Given the description of an element on the screen output the (x, y) to click on. 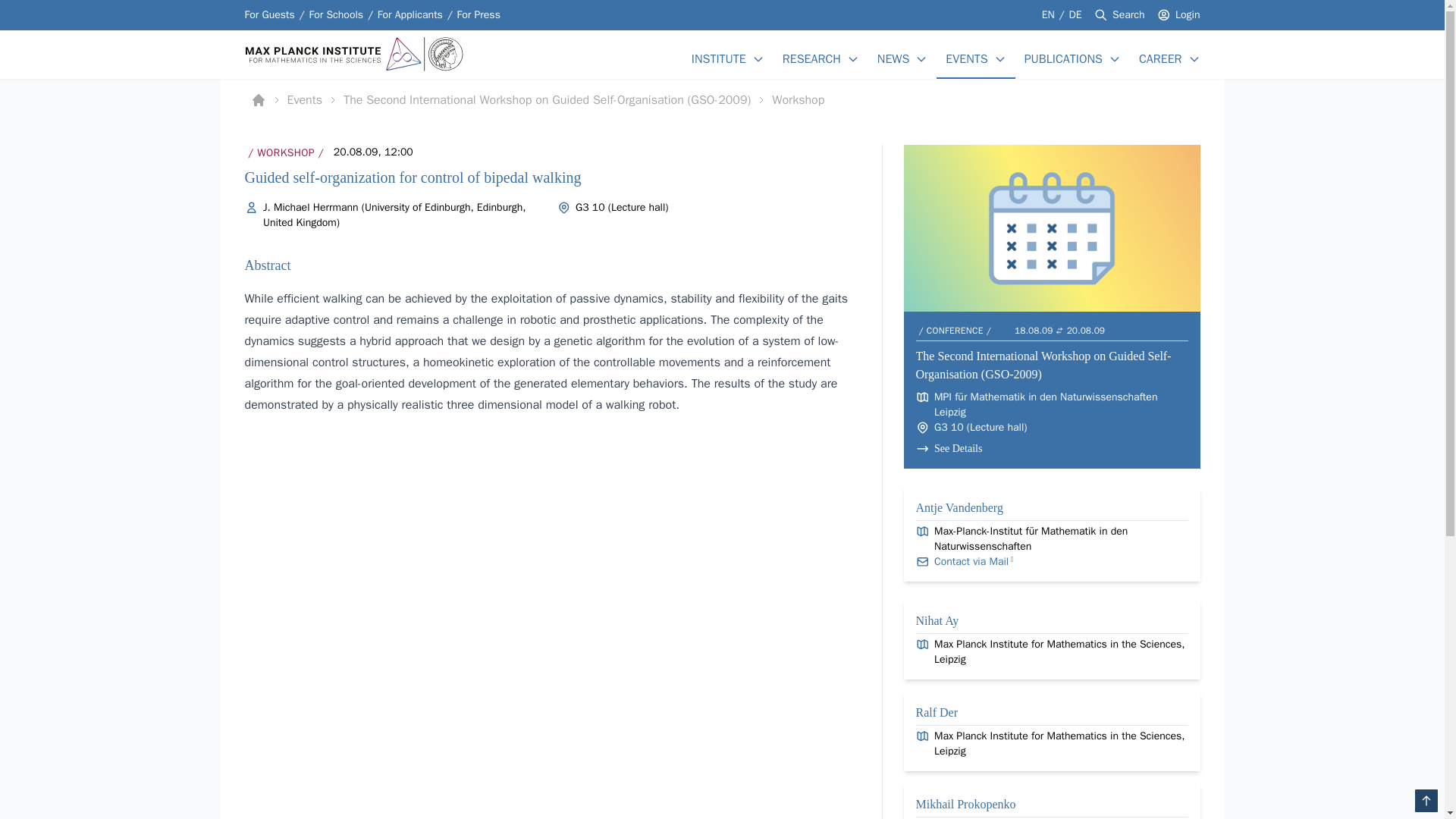
Login (1186, 14)
For Applicants (409, 14)
Research (812, 58)
RESEARCH (812, 58)
For Guests (269, 14)
For Press (478, 14)
English (1050, 14)
For Schools (335, 14)
INSTITUTE (718, 58)
DE (1074, 14)
PUBLICATIONS (1063, 58)
EN (1050, 14)
For Press (478, 14)
Search (1128, 14)
NEWS (893, 58)
